Given the description of an element on the screen output the (x, y) to click on. 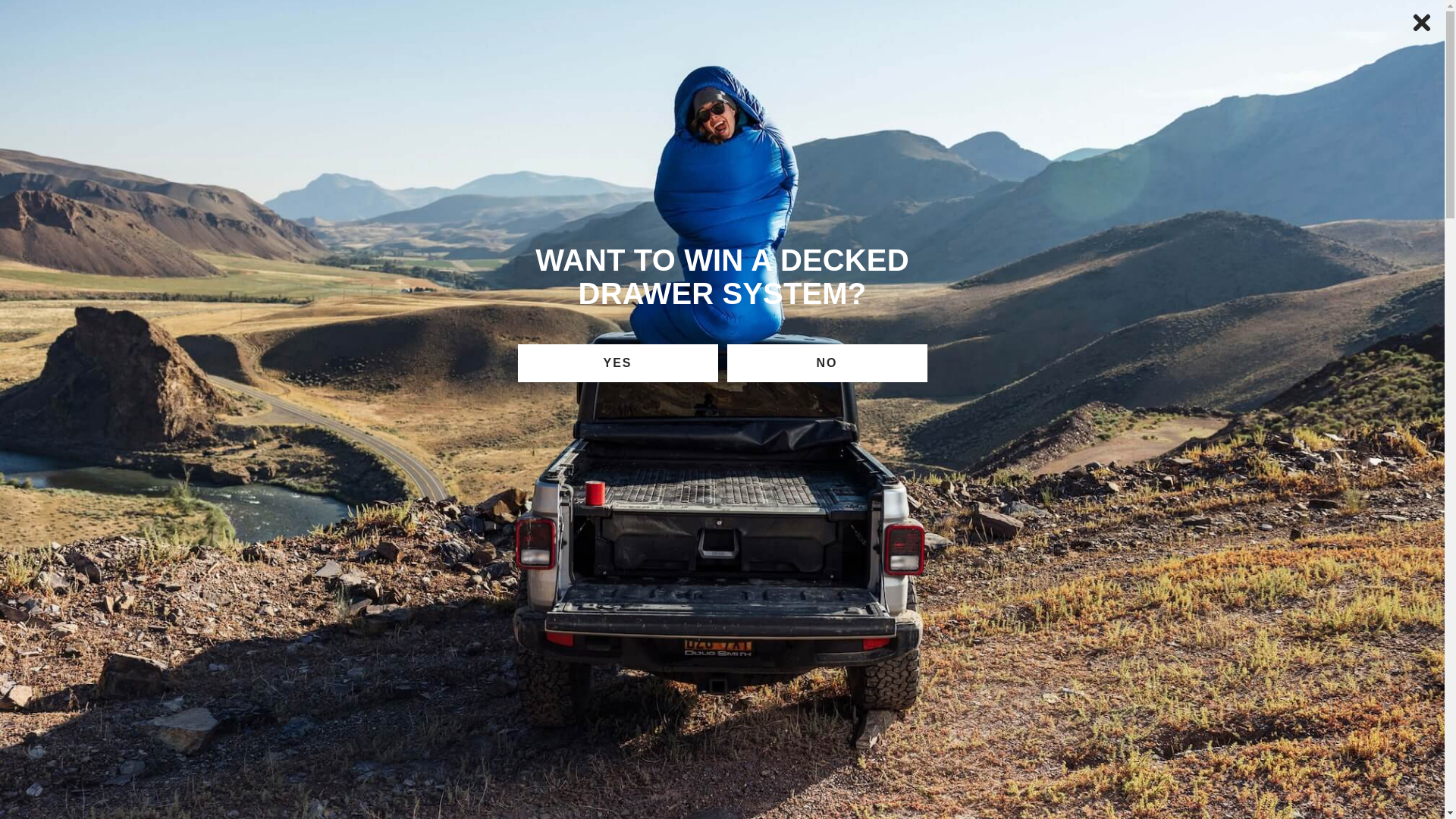
Stories (572, 60)
Financing (1378, 12)
Find a Dealer (1152, 12)
Builds (432, 60)
Blog (501, 60)
Fleet Sales (1272, 12)
DECKED (95, 60)
Close dialog 1 (1421, 22)
About Us (288, 60)
Team (365, 60)
